Given the description of an element on the screen output the (x, y) to click on. 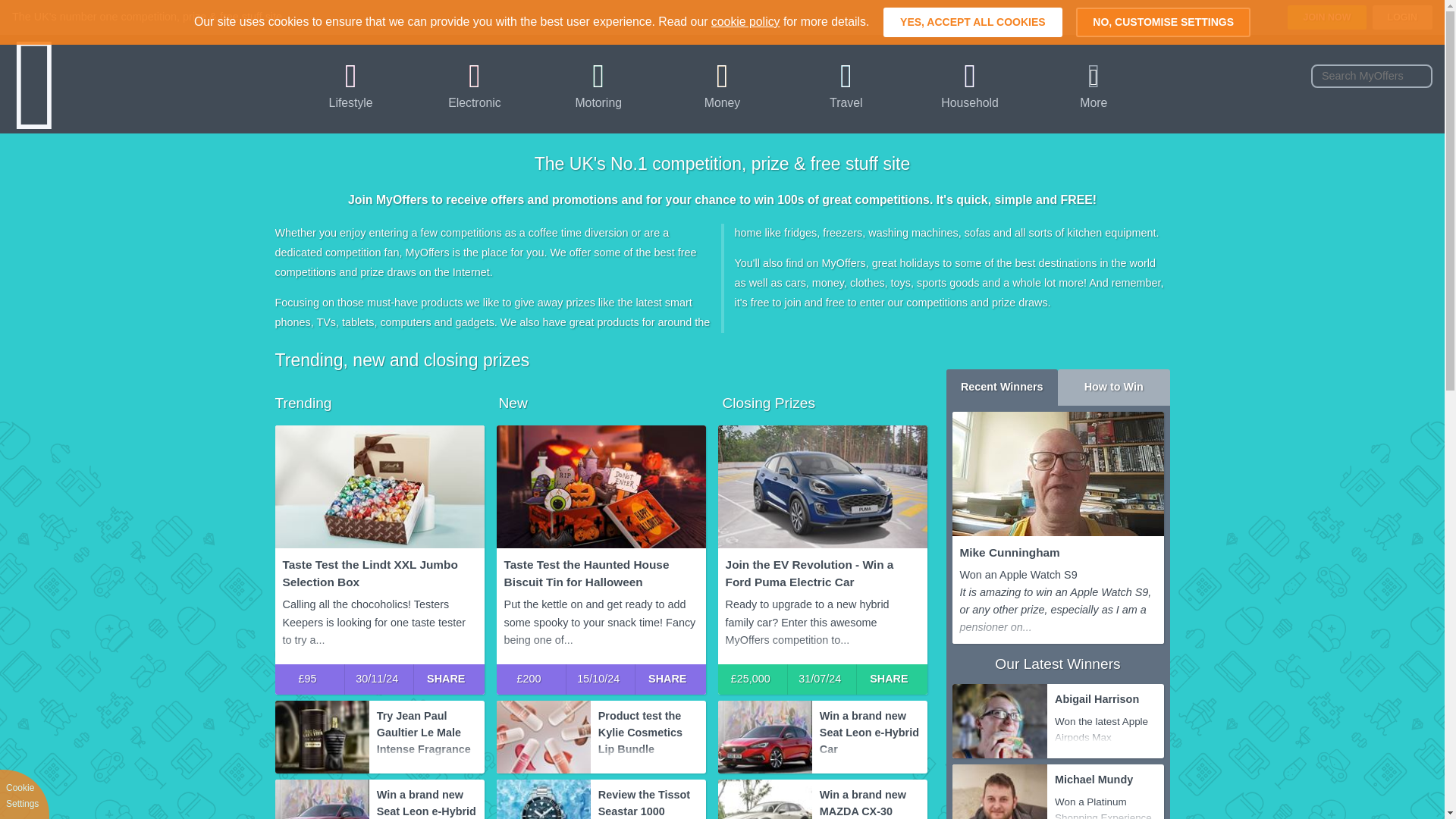
Taste Test the Lindt XXL Jumbo Selection Box (379, 486)
Try Jean Paul Gaultier Le Male Intense Fragrance (321, 737)
LOGIN (1402, 16)
Product test the Kylie Cosmetics Lip Bundle (543, 737)
Review the Tissot Seastar 1000 Chronograph Watch (543, 799)
Taste Test the Haunted House Biscuit Tin for Halloween (600, 573)
Taste Test the Haunted House Biscuit Tin for Halloween (601, 486)
Join the EV Revolution - Win a Ford Puma Electric Car (822, 486)
Win a brand new Seat Leon e-Hybrid Car (426, 799)
Win a brand new Seat Leon e-Hybrid Car (764, 737)
JOIN NOW (1326, 16)
Win a brand new Seat Leon e-Hybrid Car (321, 799)
Taste Test the Lindt XXL Jumbo Selection Box (379, 573)
Try Jean Paul Gaultier Le Male Intense Fragrance (426, 729)
